Given the description of an element on the screen output the (x, y) to click on. 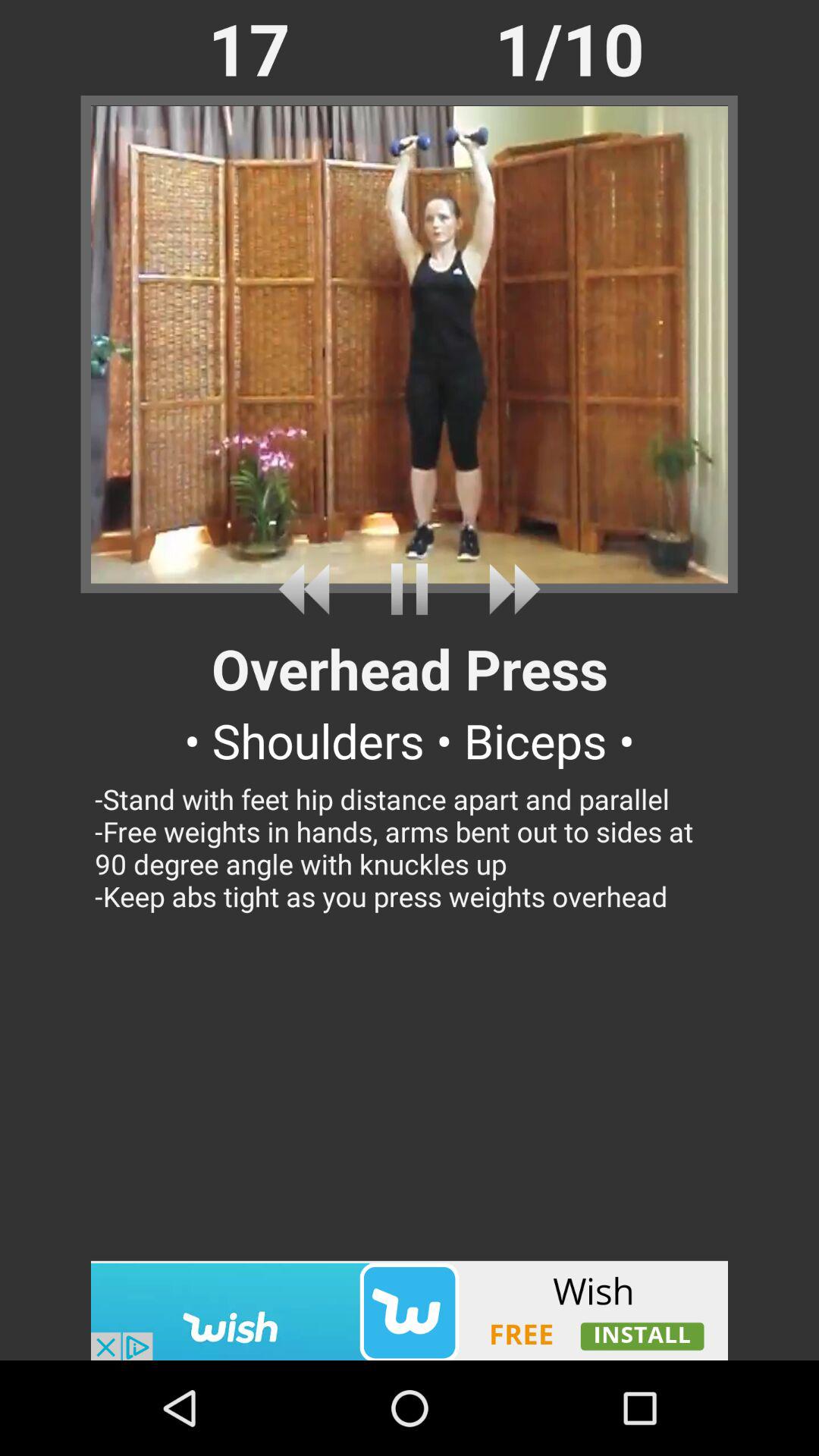
pause video (409, 589)
